Given the description of an element on the screen output the (x, y) to click on. 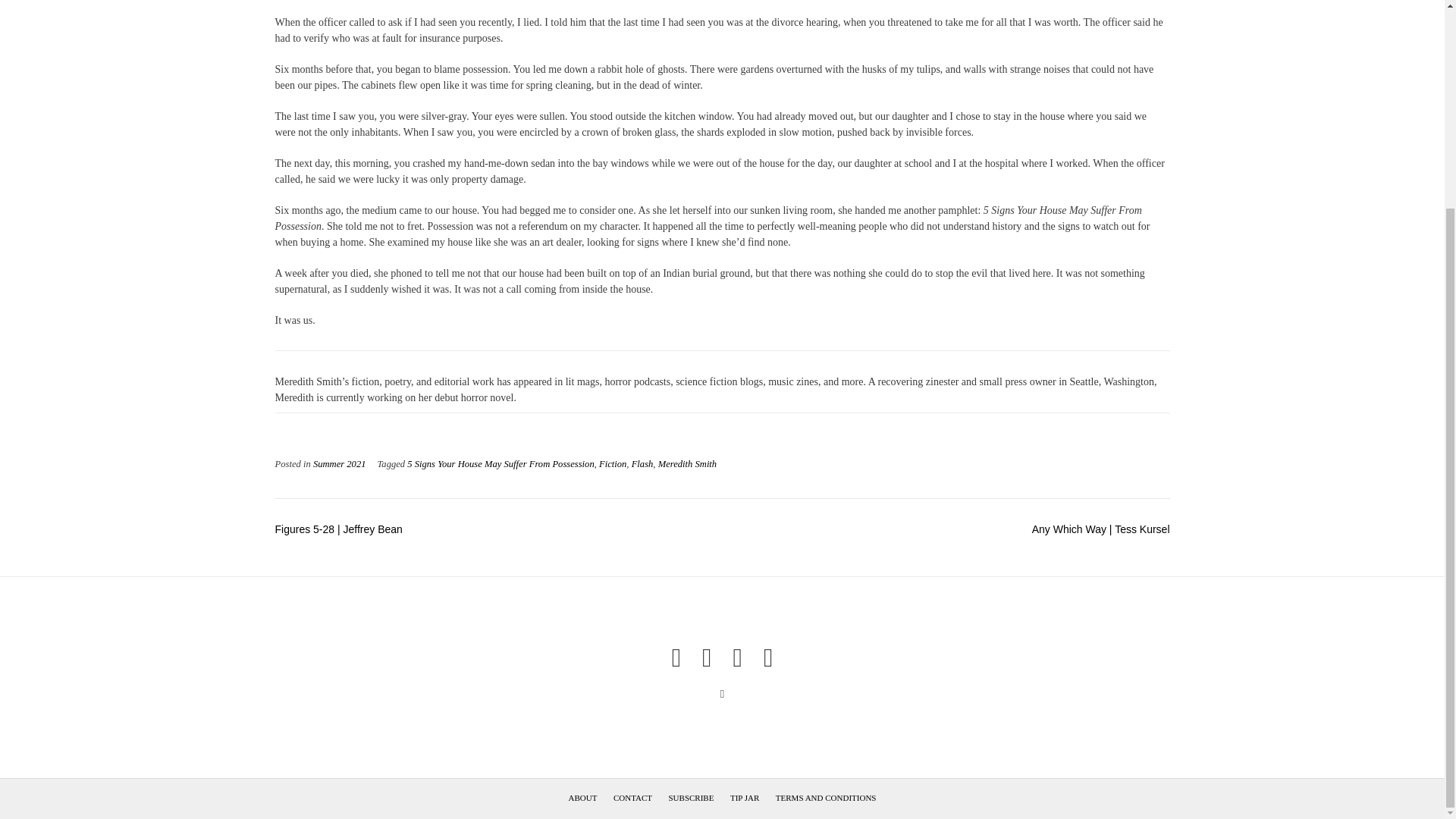
5 Signs Your House May Suffer From Possession (500, 463)
Meredith Smith (687, 463)
ABOUT (582, 797)
SUBSCRIBE (690, 797)
Summer 2021 (339, 463)
Fiction (612, 463)
Follow Us on Instagram (736, 657)
TERMS AND CONDITIONS (826, 797)
TIP JAR (744, 797)
Flash (642, 463)
Follow Us on Twitter (706, 657)
CONTACT (633, 797)
Find Us on Facebook (676, 657)
